Given the description of an element on the screen output the (x, y) to click on. 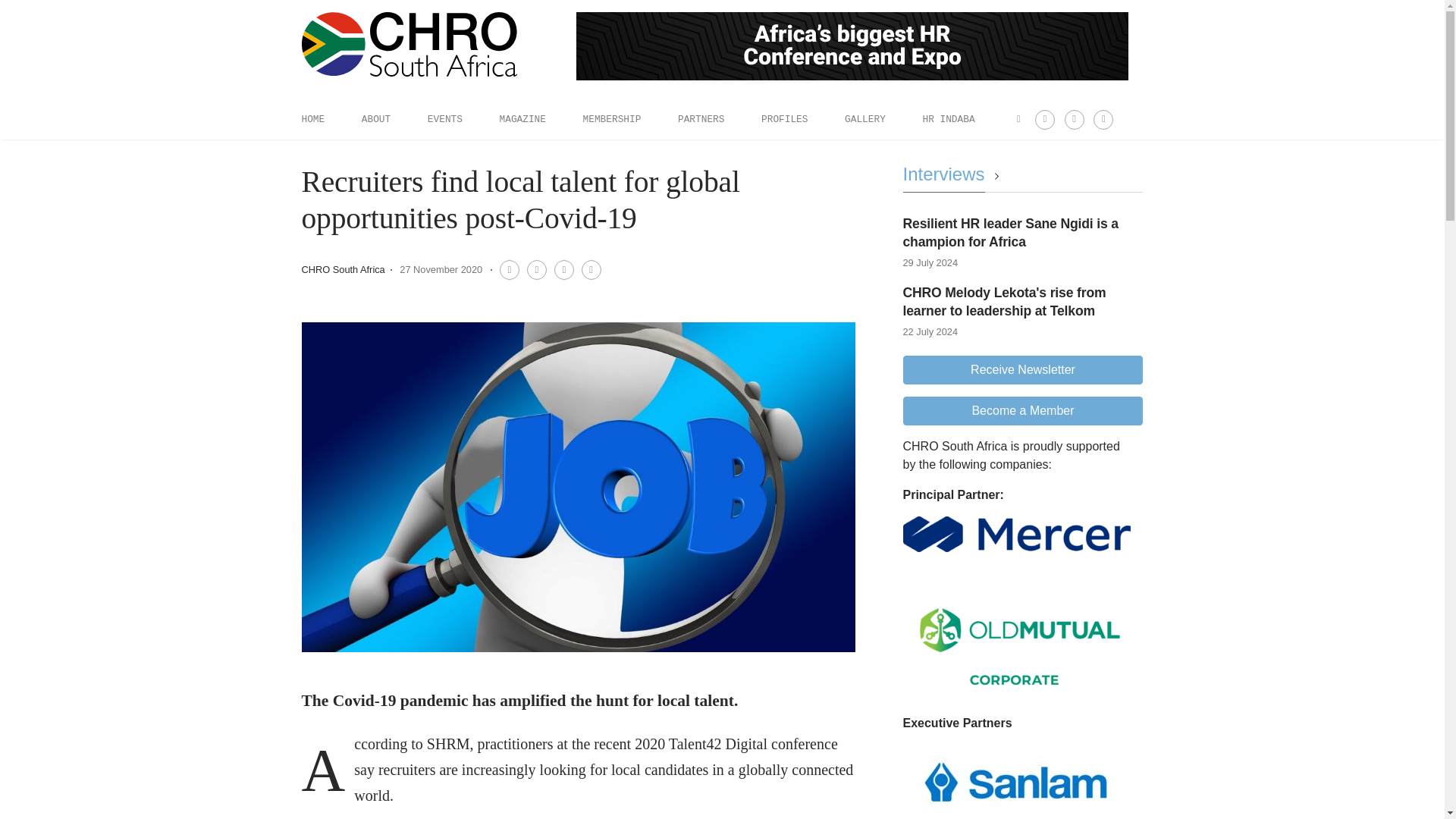
PROFILES (784, 119)
Receive Newsletter (1022, 369)
HR INDABA (947, 119)
MEMBERSHIP (612, 119)
HOME (312, 119)
EVENTS (445, 119)
ABOUT (375, 119)
PARTNERS (700, 119)
MAGAZINE (522, 119)
CHRO South Africa (343, 269)
